Given the description of an element on the screen output the (x, y) to click on. 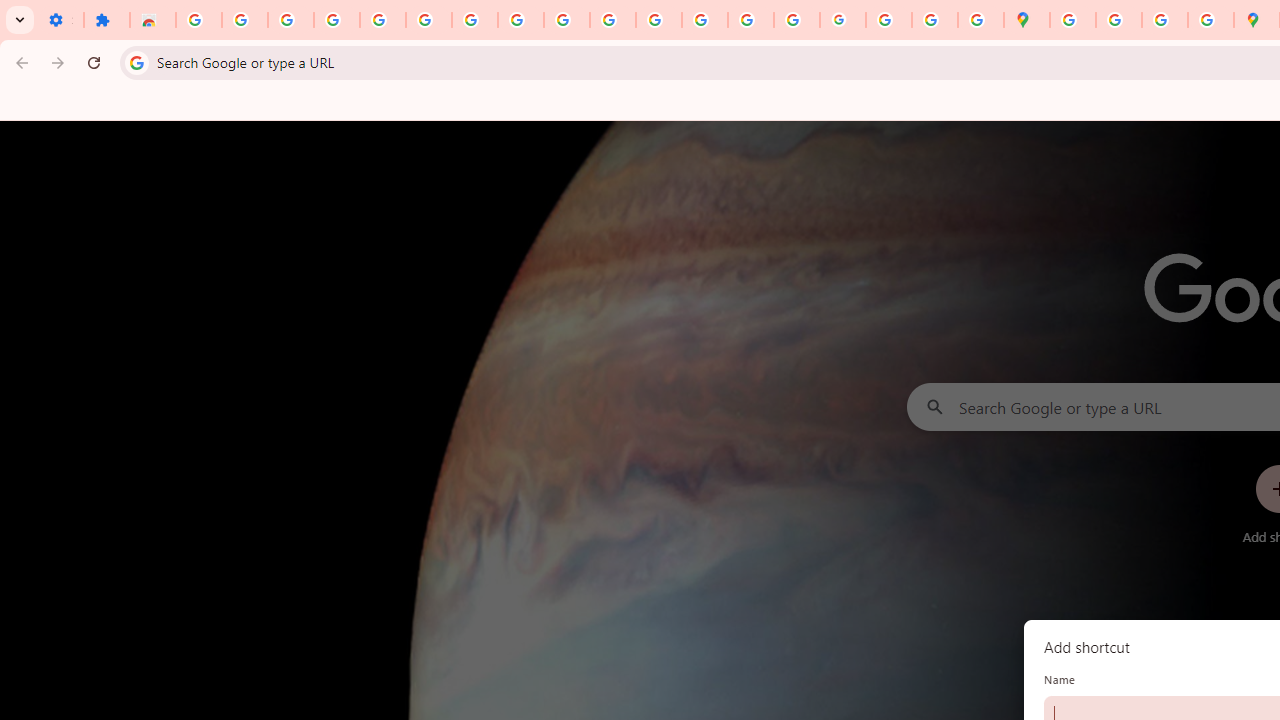
https://scholar.google.com/ (659, 20)
Settings - On startup (60, 20)
Sign in - Google Accounts (198, 20)
Search icon (136, 62)
